Given the description of an element on the screen output the (x, y) to click on. 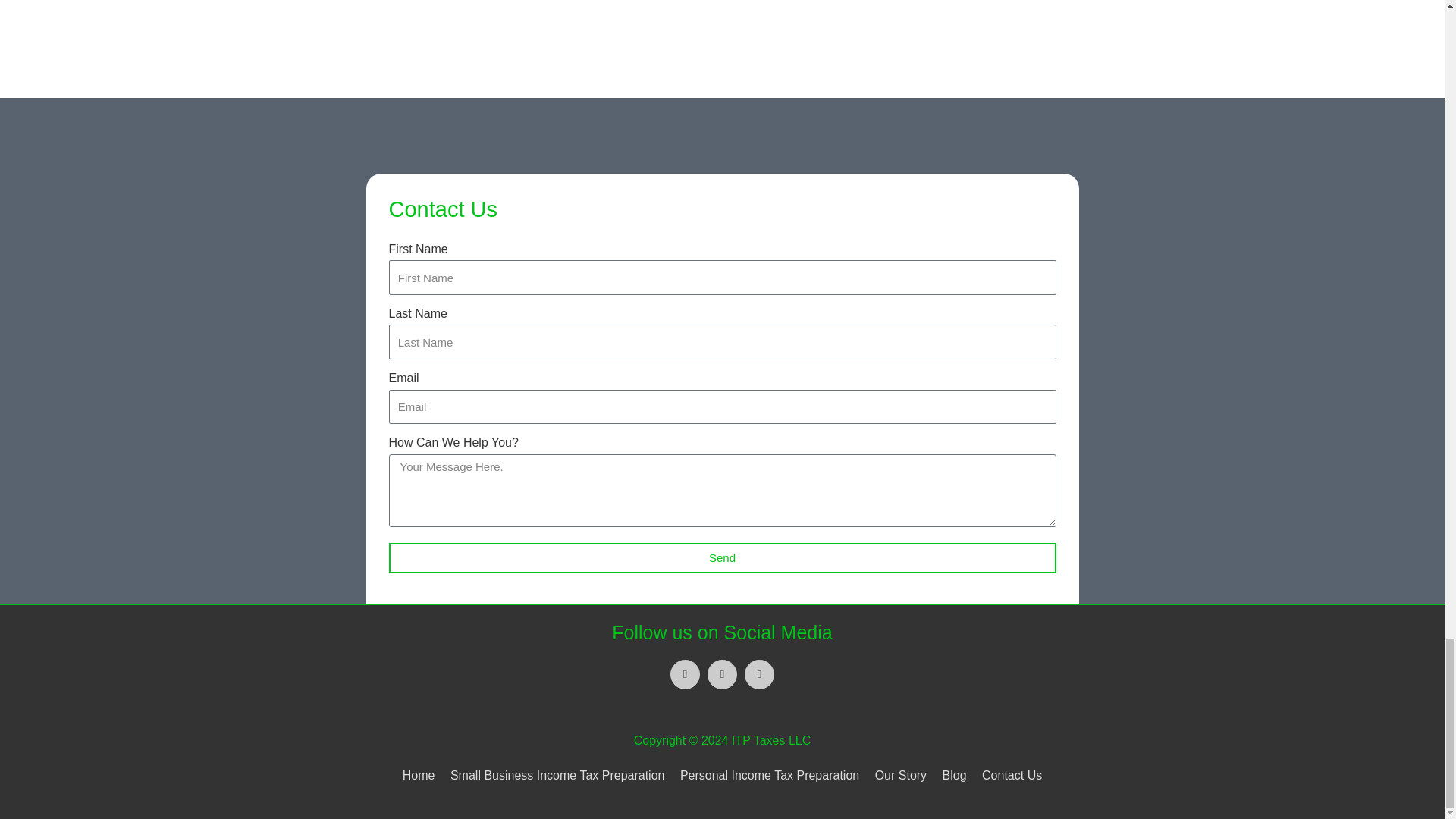
Small Business Income Tax Preparation (557, 775)
Blog (954, 775)
Home (422, 775)
Personal Income Tax Preparation (769, 775)
Our Story (901, 775)
Facebook-f (684, 674)
Linkedin-in (721, 674)
Twitter (759, 674)
Contact Us (1008, 775)
Send (721, 557)
